Given the description of an element on the screen output the (x, y) to click on. 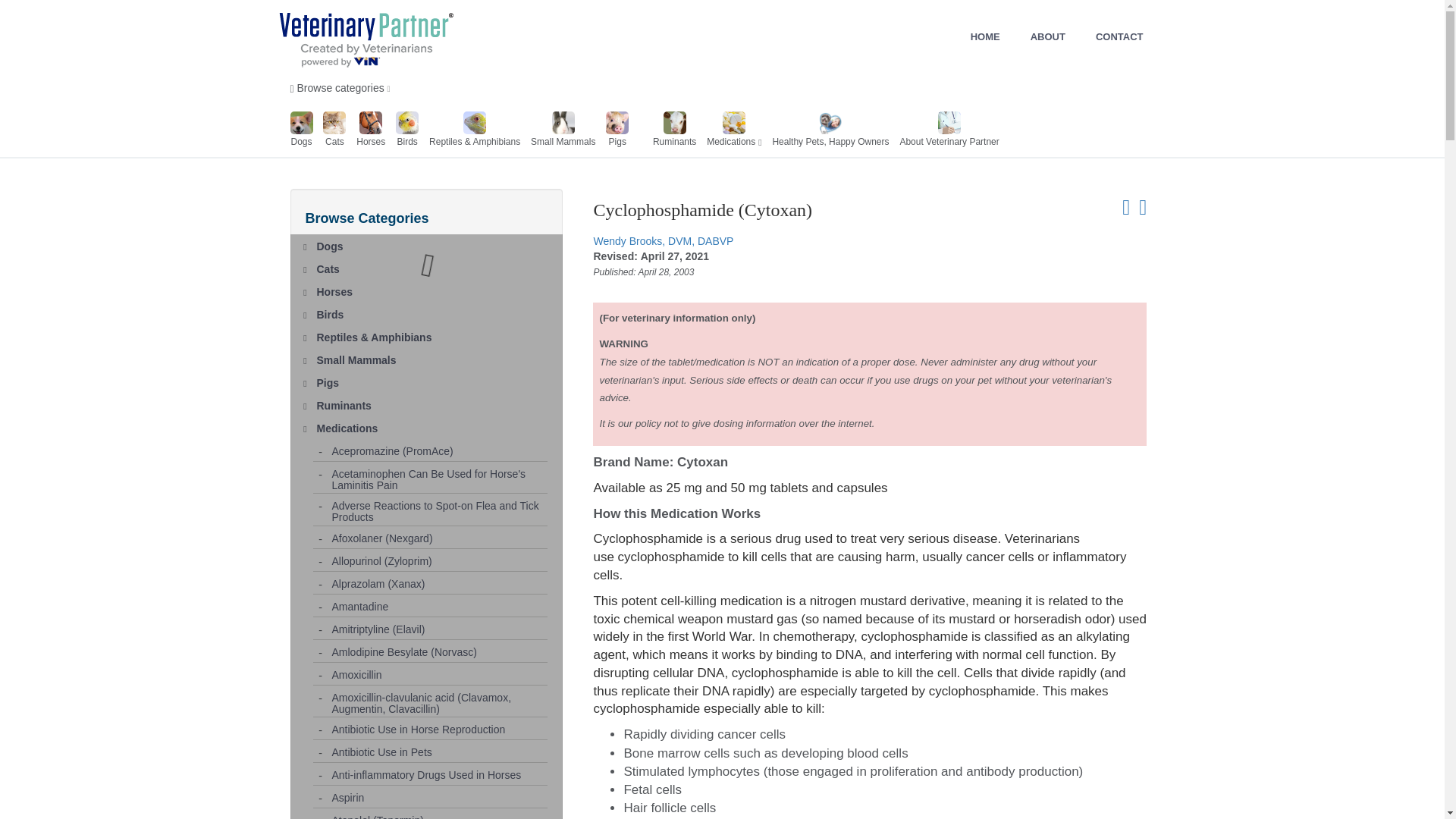
Birds (432, 311)
Horses (432, 289)
Medications (432, 425)
Adverse Reactions to Spot-on Flea and Tick Products (439, 508)
Small Mammals (432, 357)
Pigs (432, 380)
Medications (730, 132)
Small Mammals (563, 132)
Healthy Pets, Happy Owners (829, 132)
Ruminants (673, 132)
